Given the description of an element on the screen output the (x, y) to click on. 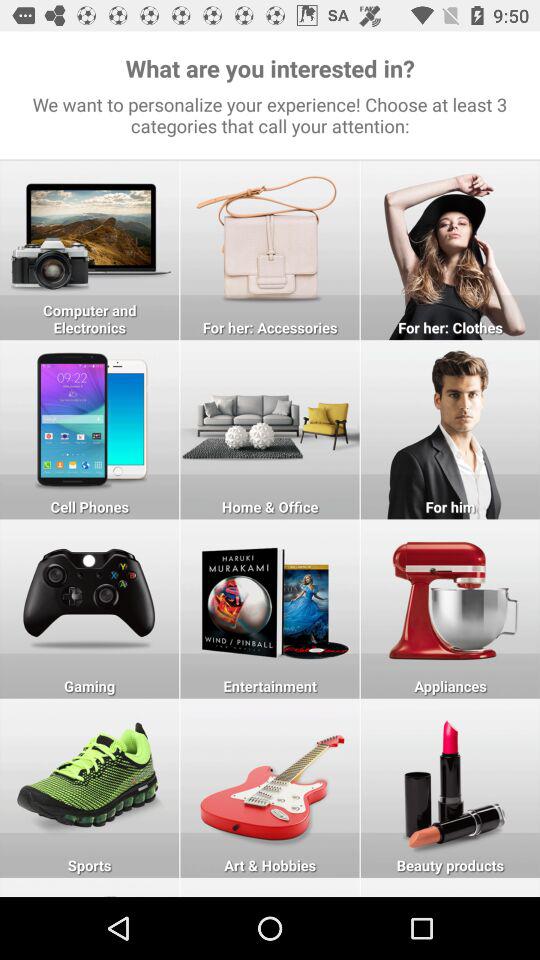
click on art hobbies (269, 787)
